Given the description of an element on the screen output the (x, y) to click on. 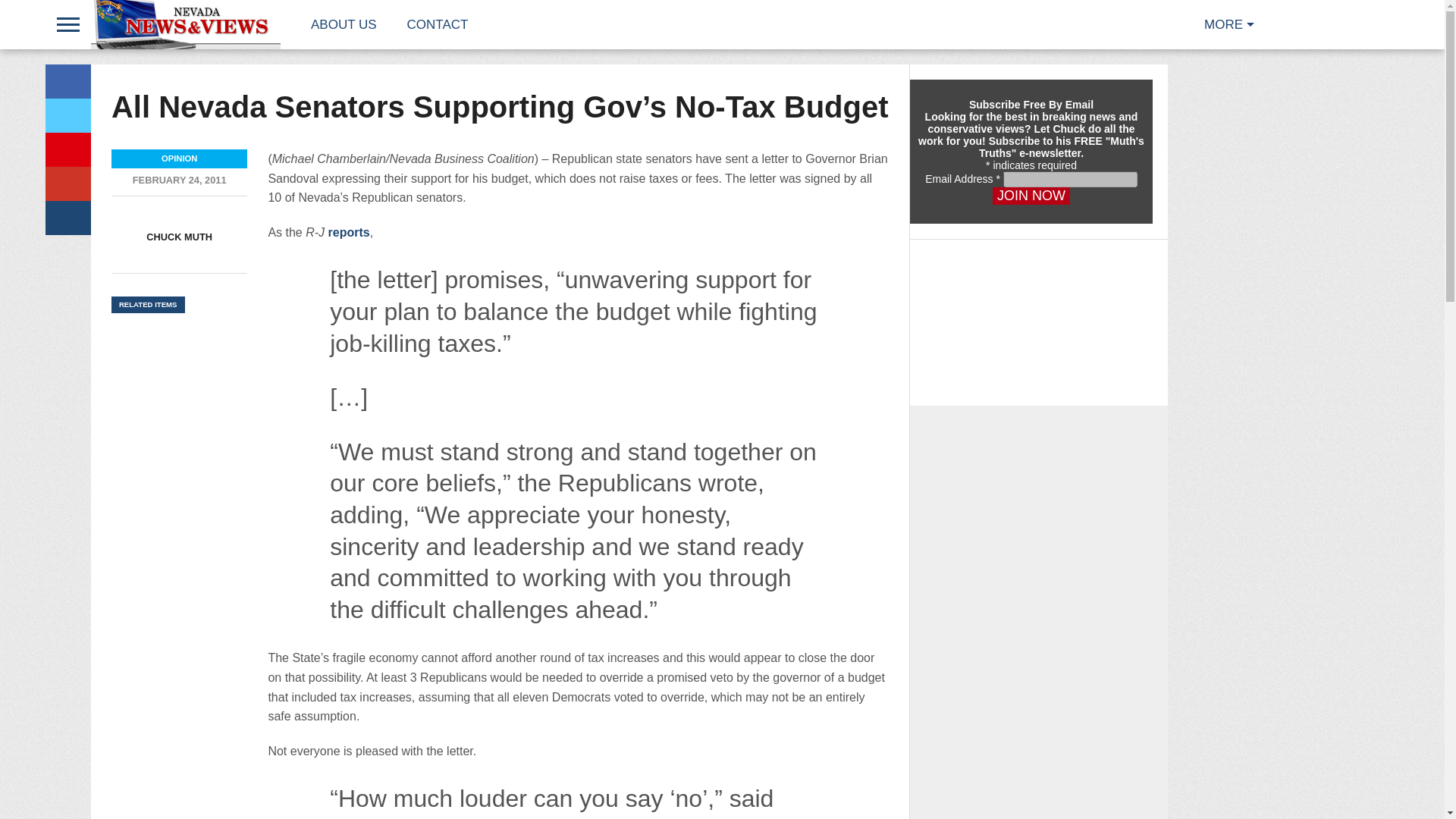
Posts by Chuck Muth (179, 236)
Join Now (1031, 195)
Tweet This Post (67, 115)
Share on Facebook (67, 81)
Pin This Post (67, 149)
